Given the description of an element on the screen output the (x, y) to click on. 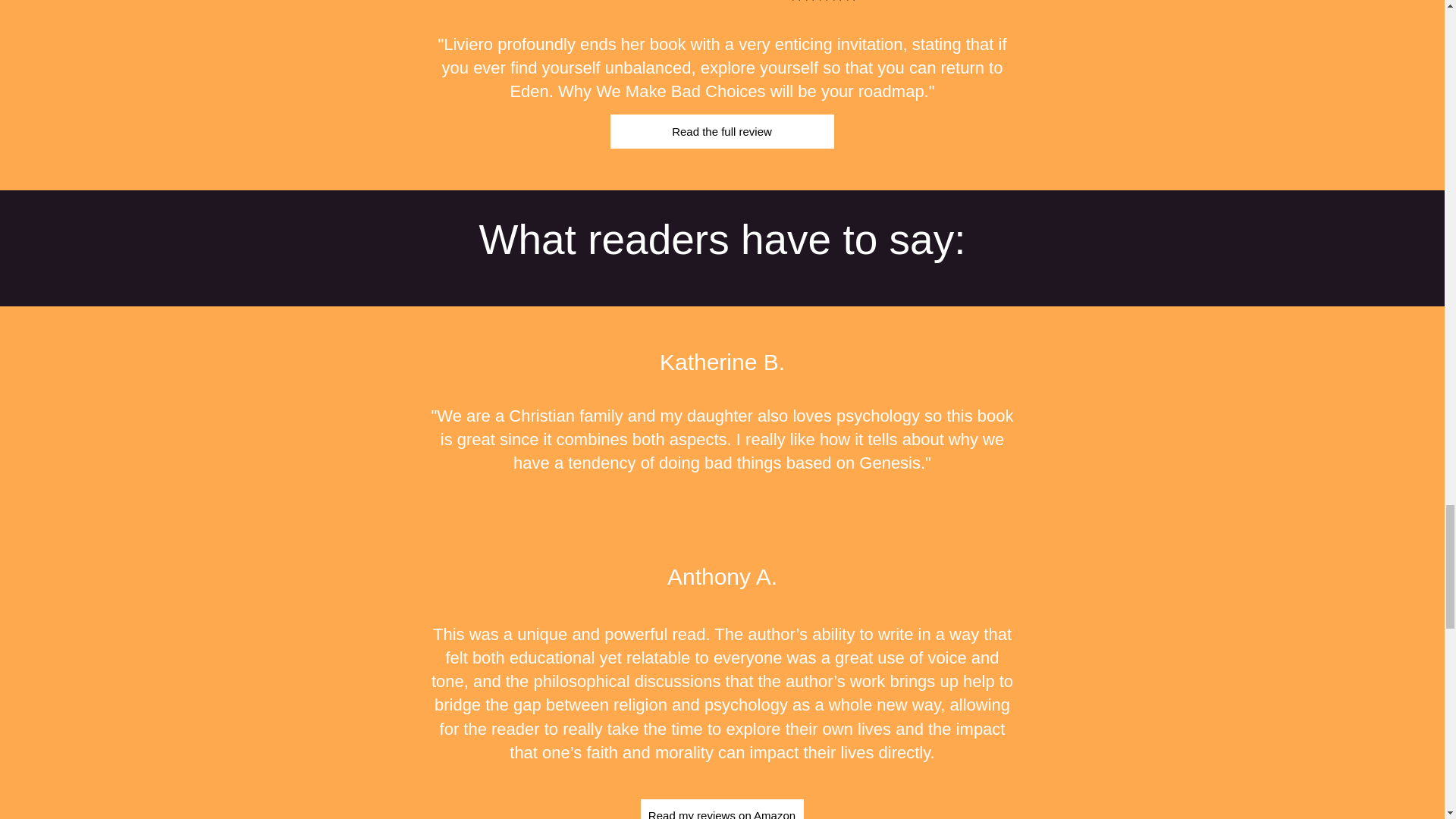
Read the full review (721, 131)
Read my reviews on Amazon (721, 809)
